Given the description of an element on the screen output the (x, y) to click on. 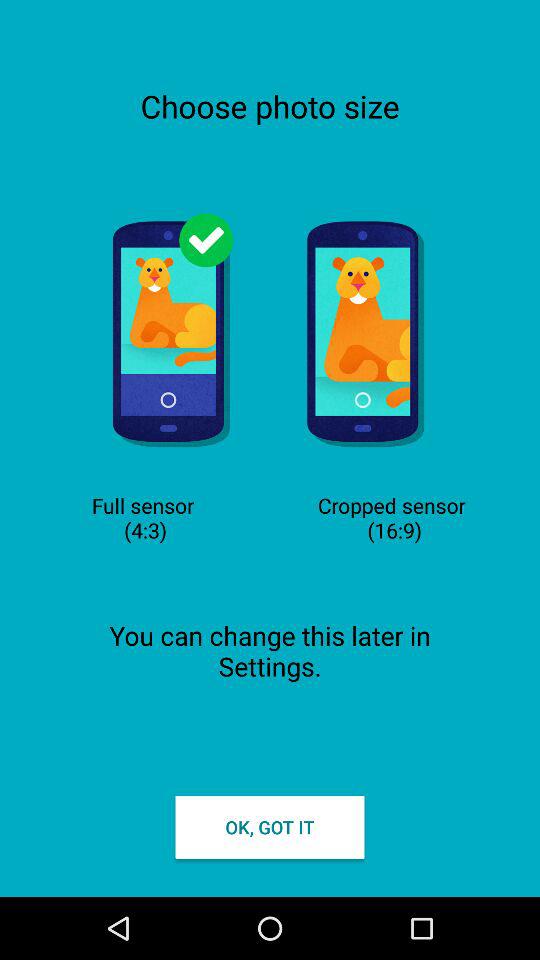
flip until ok, got it (269, 826)
